Given the description of an element on the screen output the (x, y) to click on. 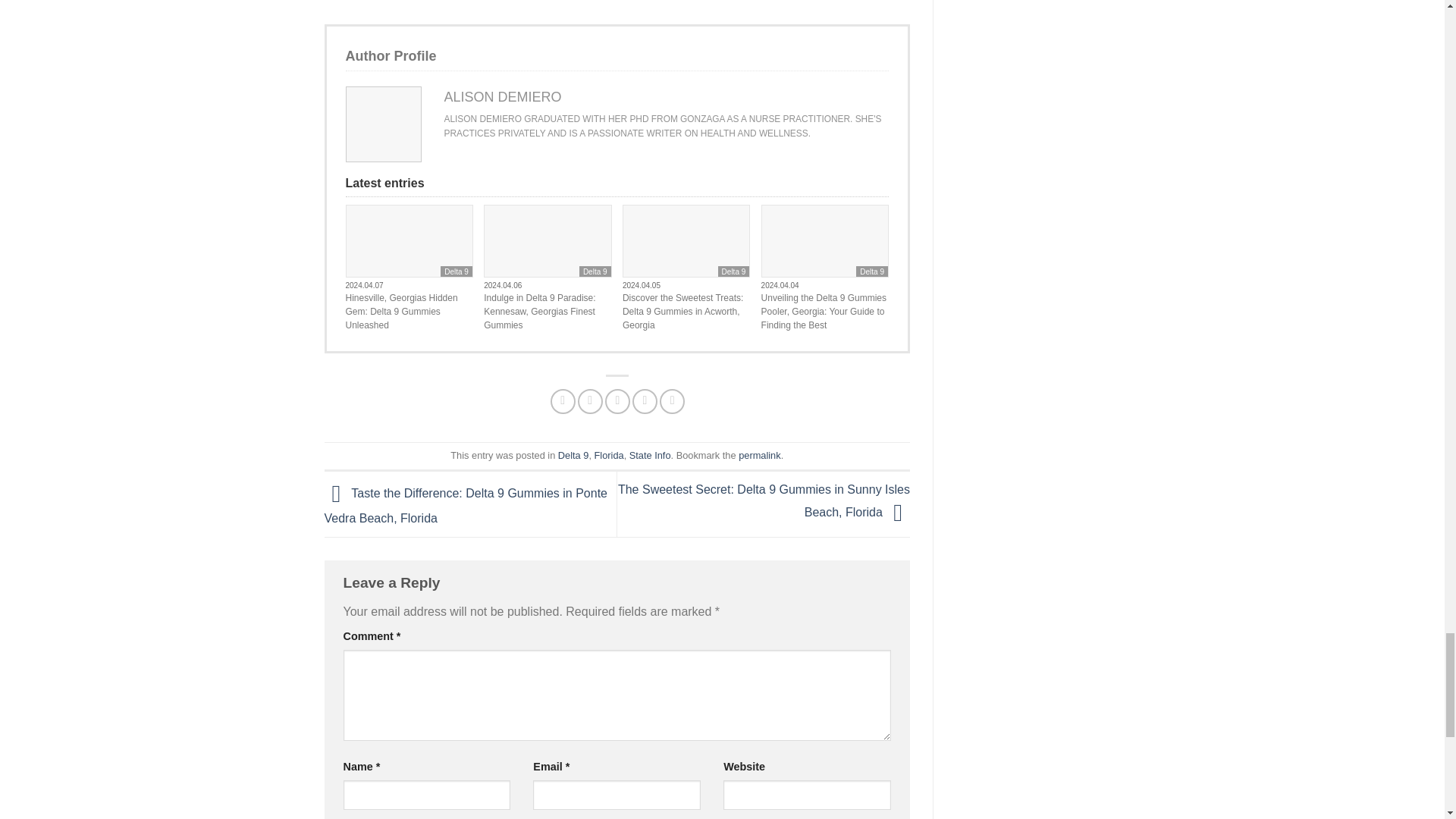
Share on Twitter (590, 401)
Delta 9 (733, 271)
Delta 9 (595, 271)
Share on Facebook (562, 401)
Share on LinkedIn (671, 401)
Pin on Pinterest (644, 401)
Email to a Friend (617, 401)
Delta 9 (456, 271)
